Given the description of an element on the screen output the (x, y) to click on. 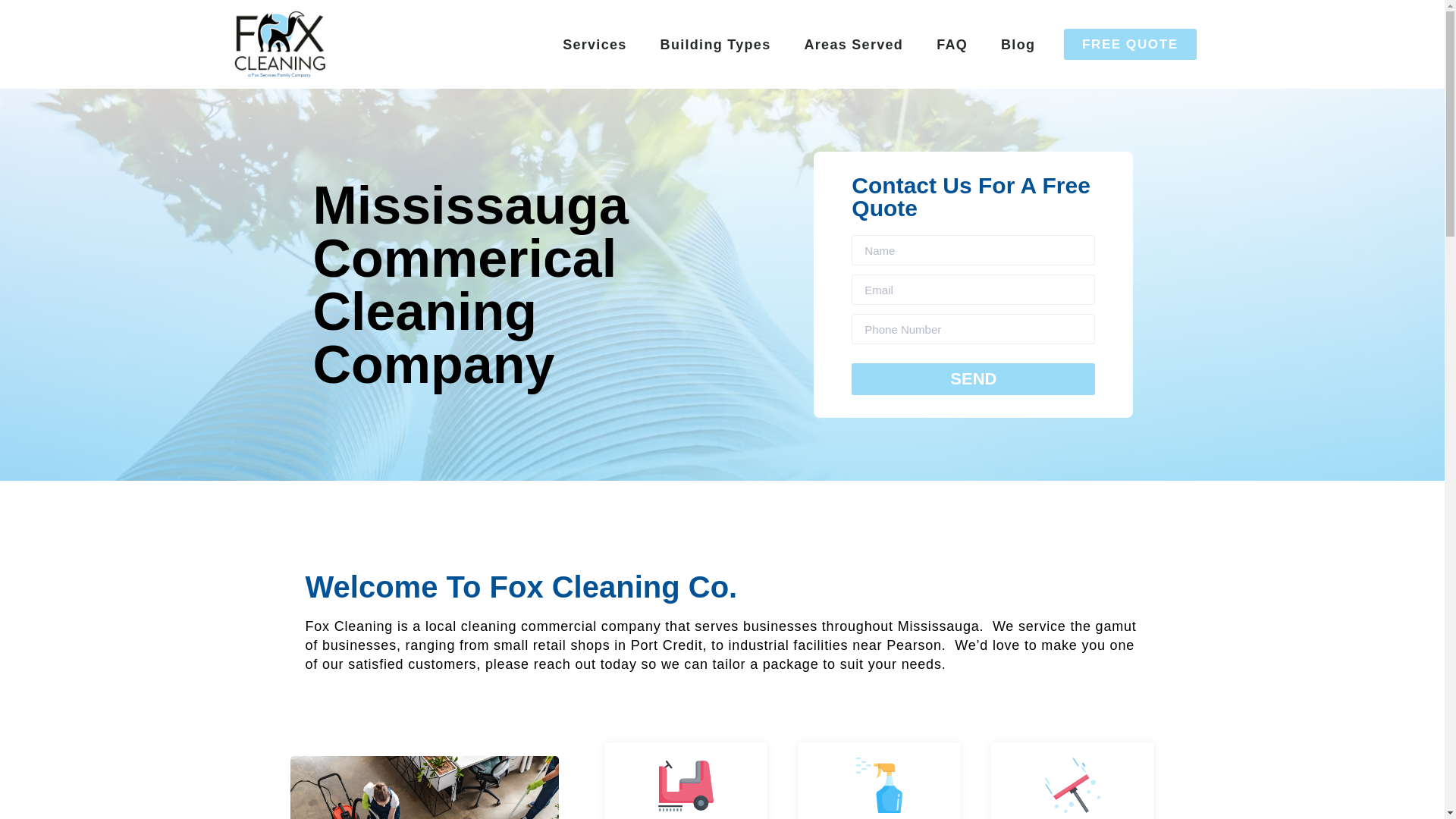
Blog (1017, 44)
Areas Served (853, 44)
Services (594, 44)
FAQ (952, 44)
Building Types (715, 44)
